Given the description of an element on the screen output the (x, y) to click on. 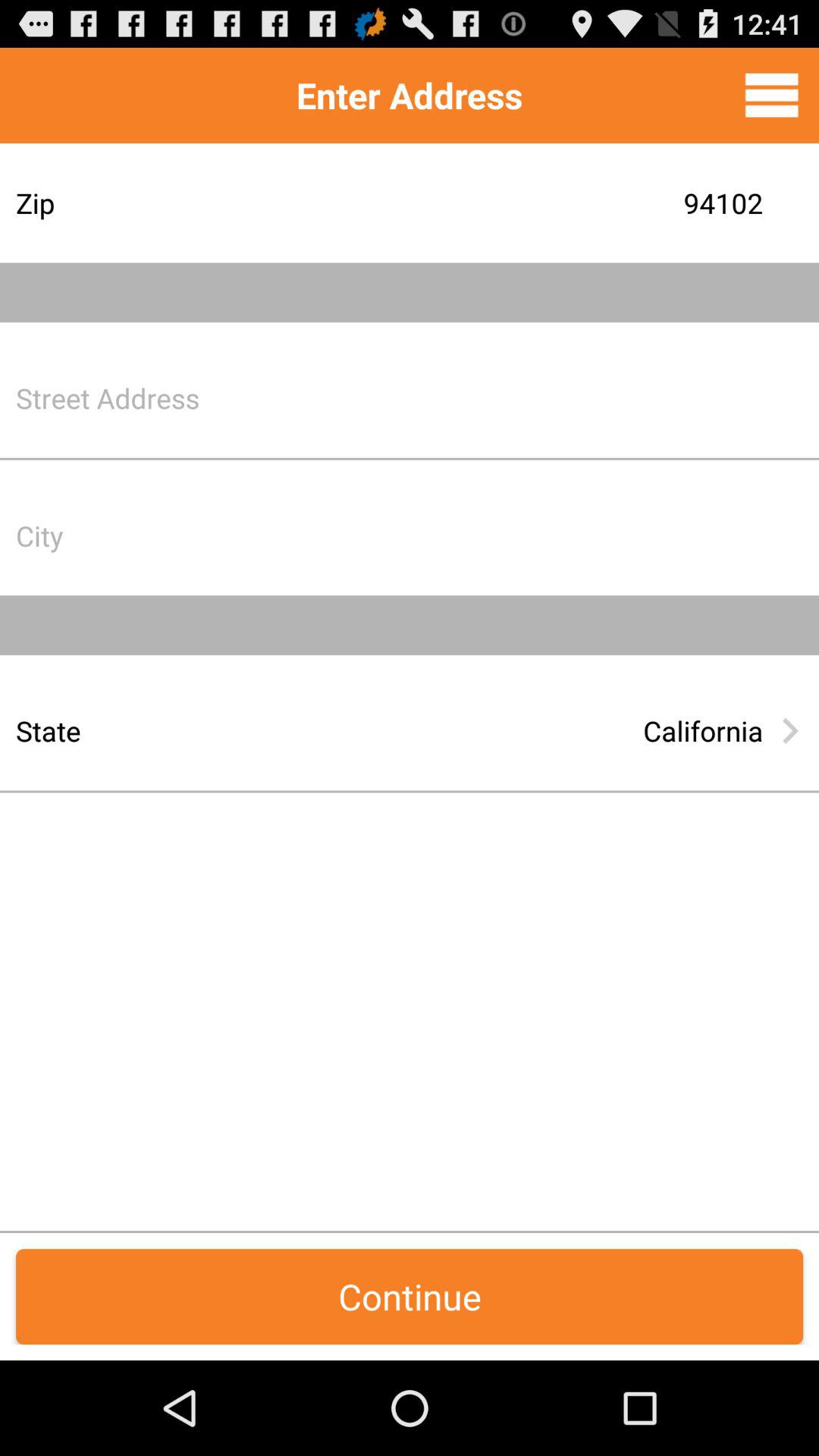
insert city (527, 535)
